Given the description of an element on the screen output the (x, y) to click on. 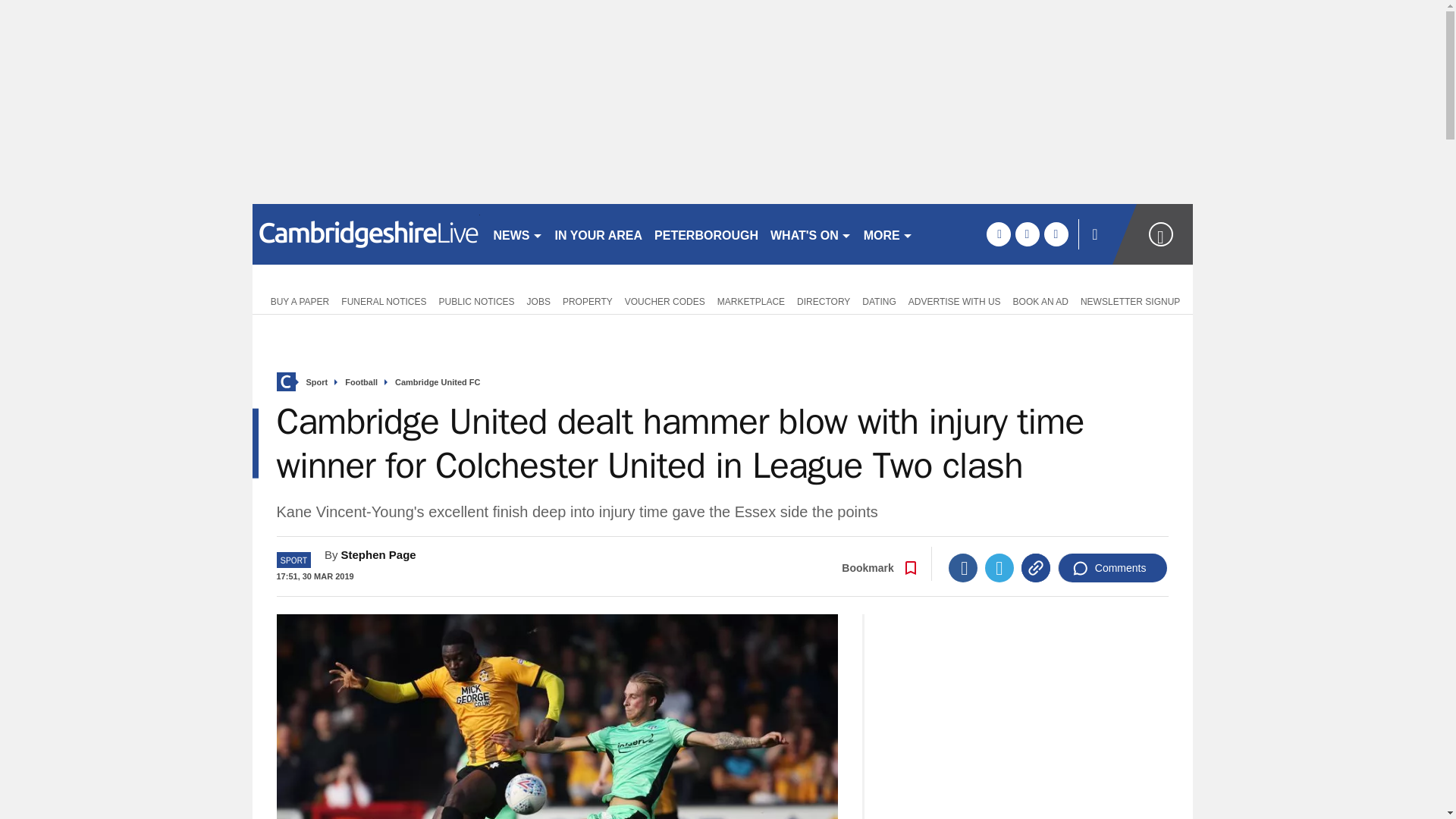
Facebook (962, 567)
facebook (997, 233)
NEWS (517, 233)
Twitter (999, 567)
cambridgenews (365, 233)
instagram (1055, 233)
PETERBOROUGH (705, 233)
IN YOUR AREA (598, 233)
WHAT'S ON (810, 233)
Comments (1112, 567)
MORE (887, 233)
twitter (1026, 233)
